Given the description of an element on the screen output the (x, y) to click on. 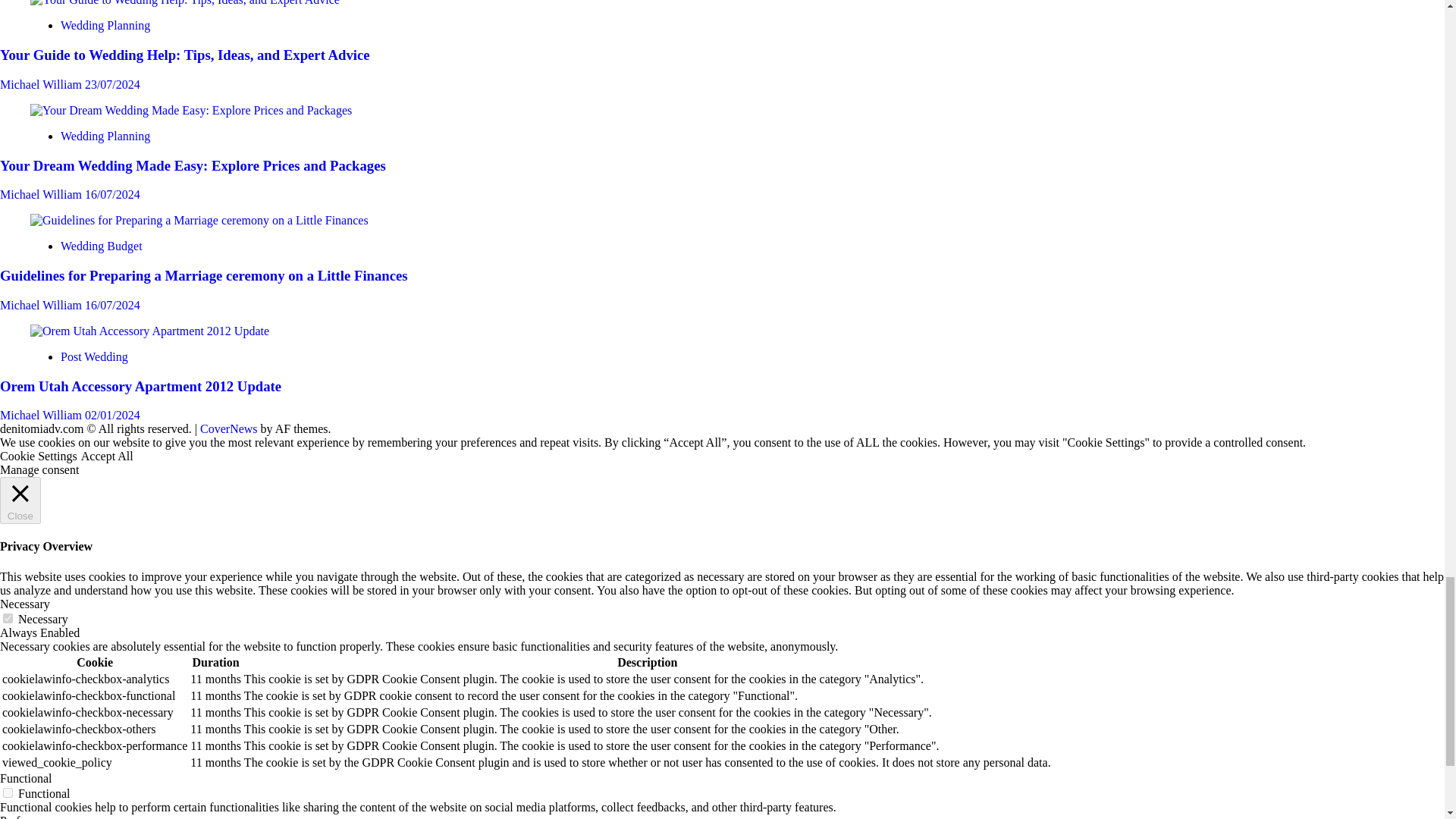
on (7, 792)
Your Dream Wedding Made Easy: Explore Prices and Packages (191, 110)
Orem Utah Accessory Apartment 2012 Update (149, 331)
on (7, 618)
Your Guide to Wedding Help: Tips, Ideas, and Expert Advice (184, 3)
